Given the description of an element on the screen output the (x, y) to click on. 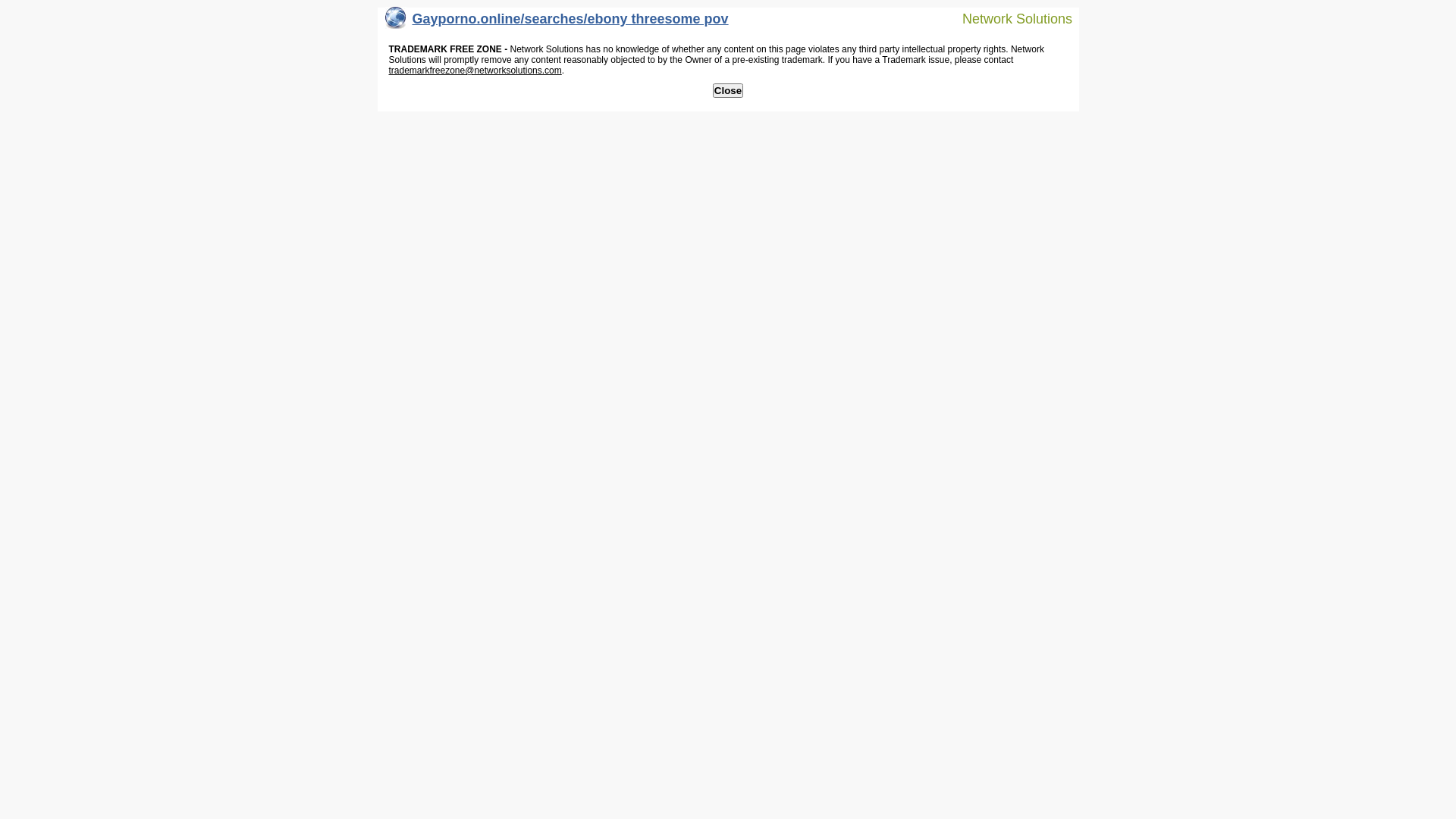
Close Element type: text (727, 90)
Gayporno.online/searches/ebony threesome pov Element type: text (556, 21)
trademarkfreezone@networksolutions.com Element type: text (474, 70)
Network Solutions Element type: text (1007, 17)
